Given the description of an element on the screen output the (x, y) to click on. 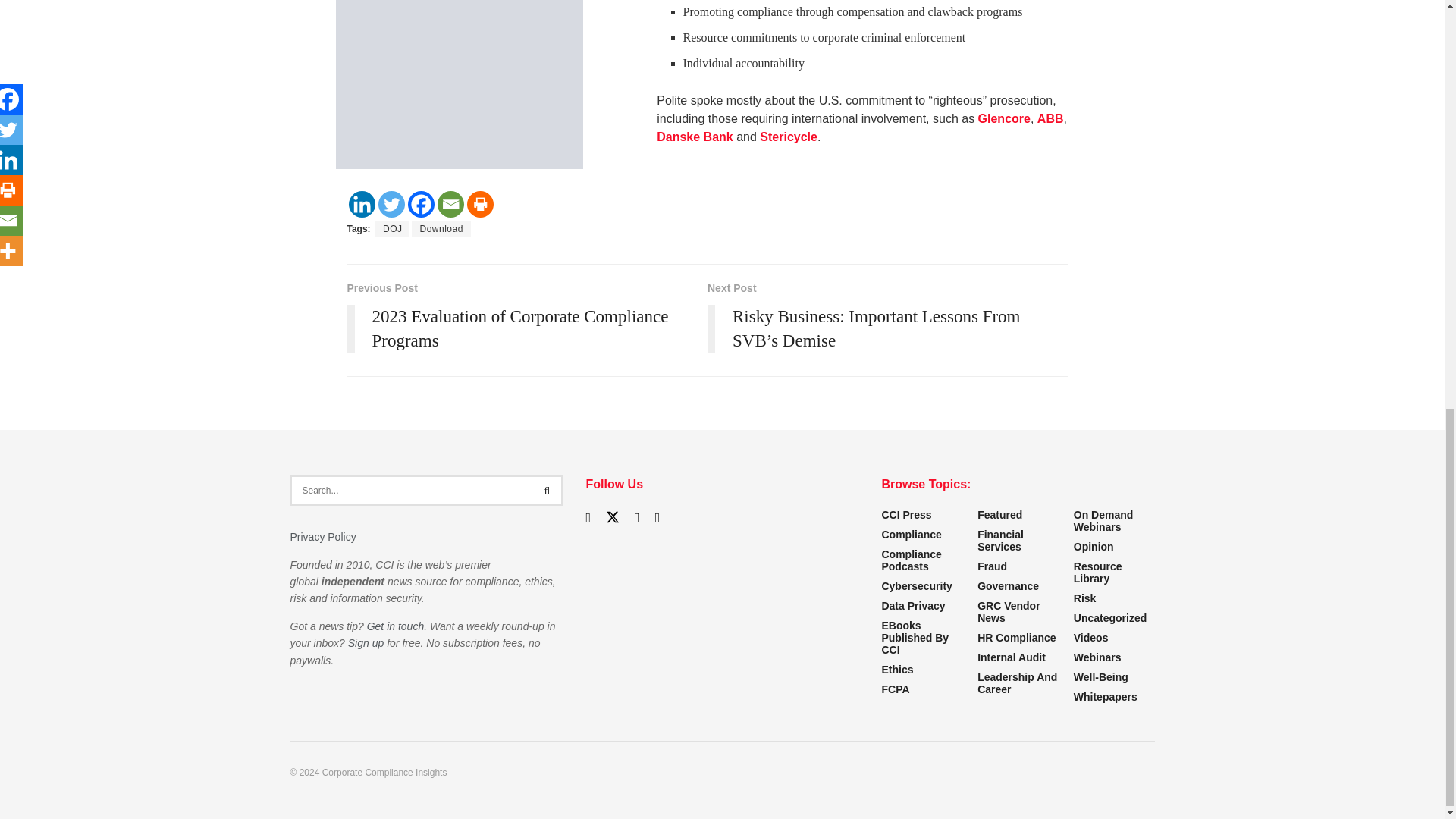
Twitter (390, 203)
Facebook (420, 203)
Print (480, 203)
Linkedin (362, 203)
Email (449, 203)
